Given the description of an element on the screen output the (x, y) to click on. 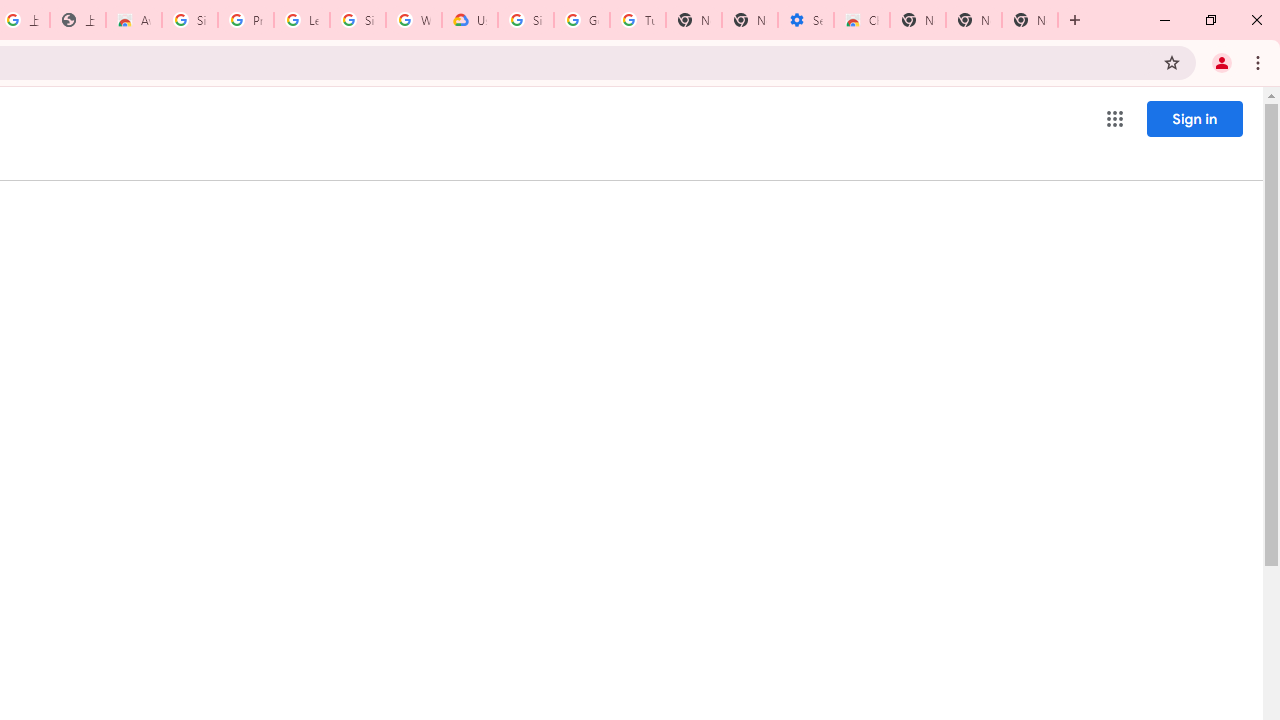
Awesome Screen Recorder & Screenshot - Chrome Web Store (134, 20)
Turn cookies on or off - Computer - Google Account Help (637, 20)
Who are Google's partners? - Privacy and conditions - Google (413, 20)
Sign in - Google Accounts (525, 20)
New Tab (917, 20)
Chrome Web Store - Accessibility extensions (861, 20)
Settings - Accessibility (806, 20)
